Given the description of an element on the screen output the (x, y) to click on. 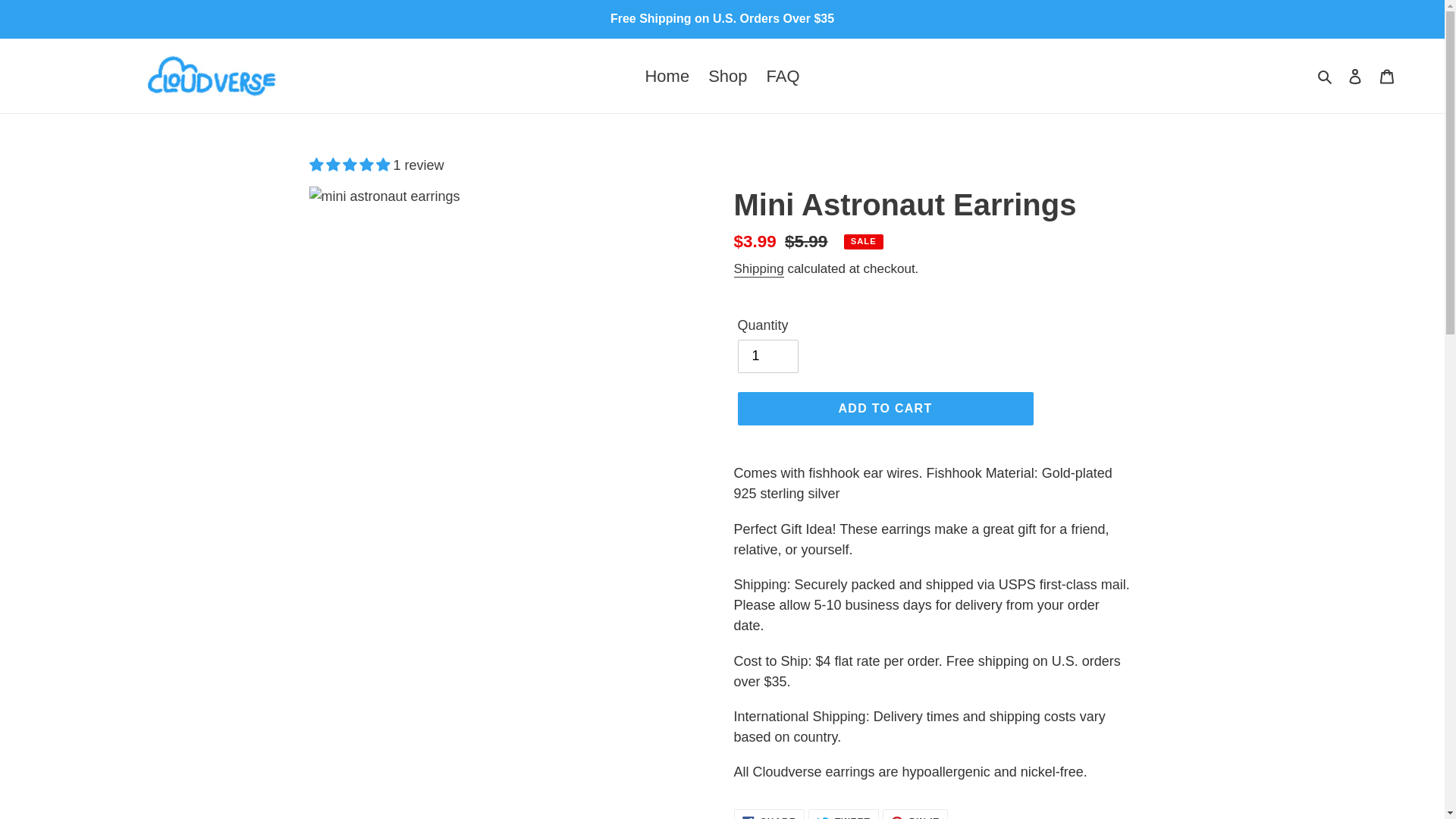
Shop (727, 75)
Home (667, 75)
ADD TO CART (884, 408)
1 (766, 356)
Shipping (758, 269)
FAQ (783, 75)
Cart (1387, 75)
Log in (1355, 75)
Search (843, 814)
